Given the description of an element on the screen output the (x, y) to click on. 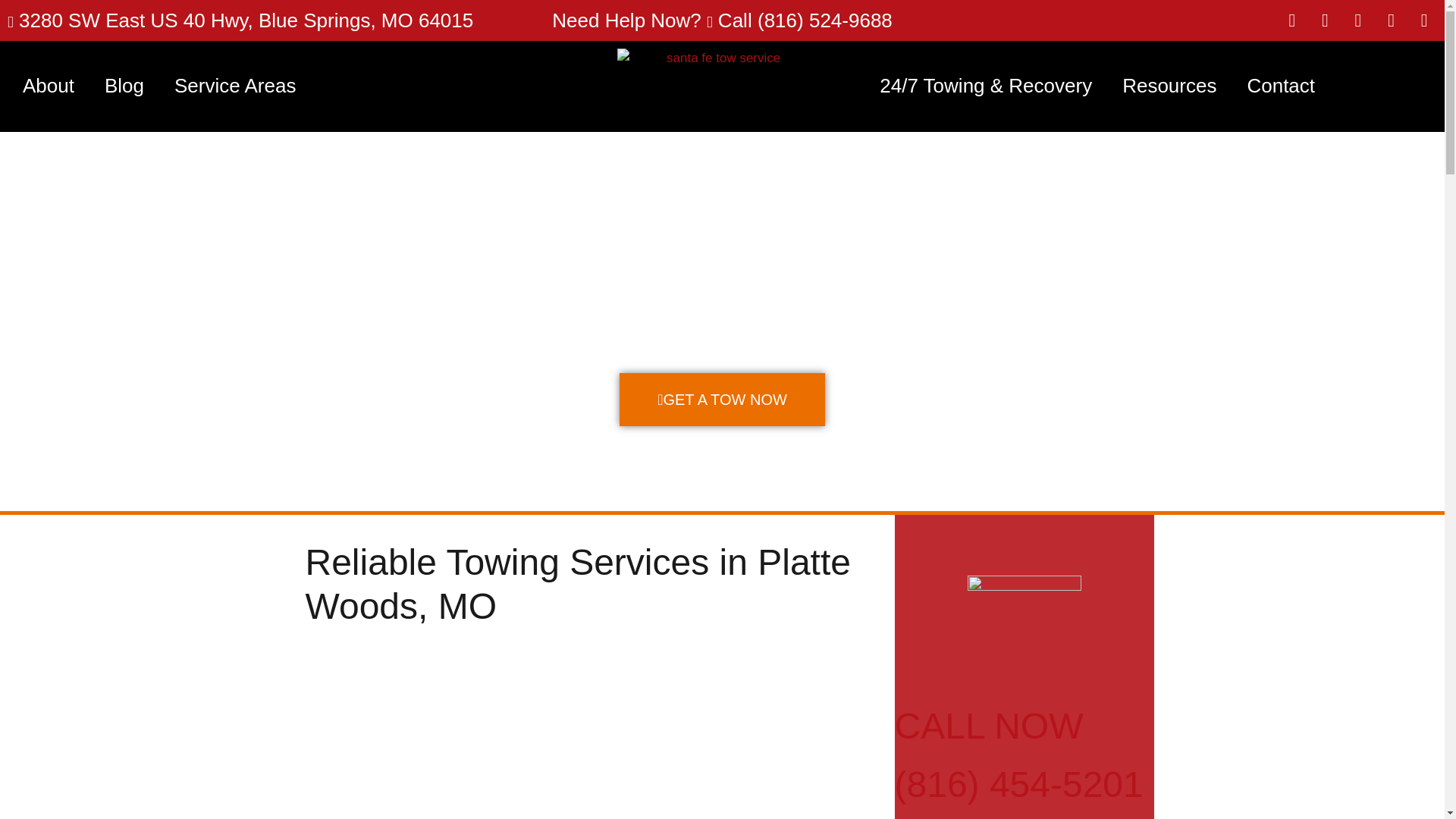
Blog (123, 85)
About (47, 85)
Service Areas (234, 85)
